Given the description of an element on the screen output the (x, y) to click on. 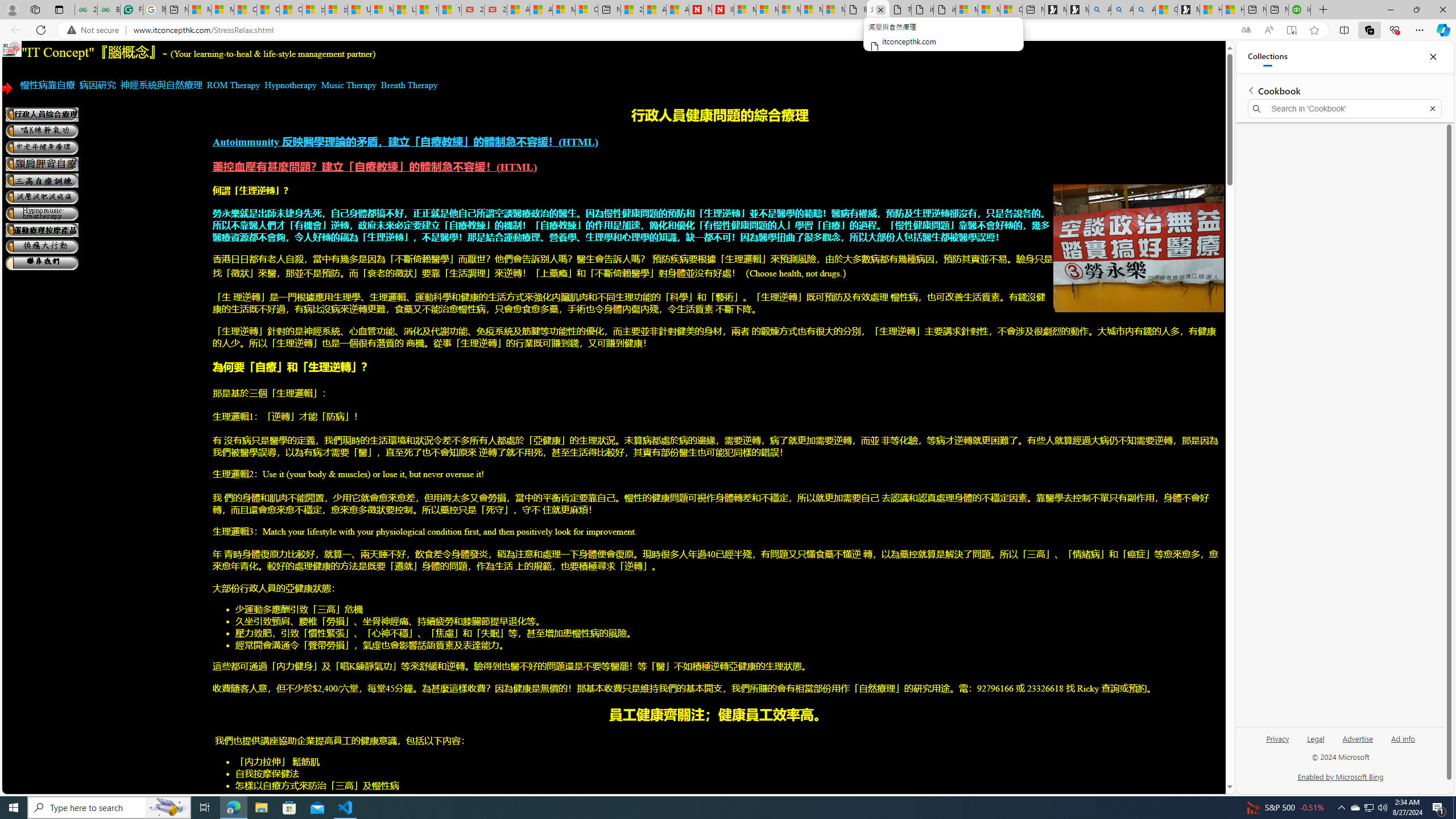
Lifestyle - MSN (404, 9)
USA TODAY - MSN (359, 9)
Newsweek - News, Analysis, Politics, Business, Technology (700, 9)
Best SSL Certificates Provider in India - GeeksforGeeks (109, 9)
15 Ways Modern Life Contradicts the Teachings of Jesus (449, 9)
Breath Therapy (409, 85)
